Given the description of an element on the screen output the (x, y) to click on. 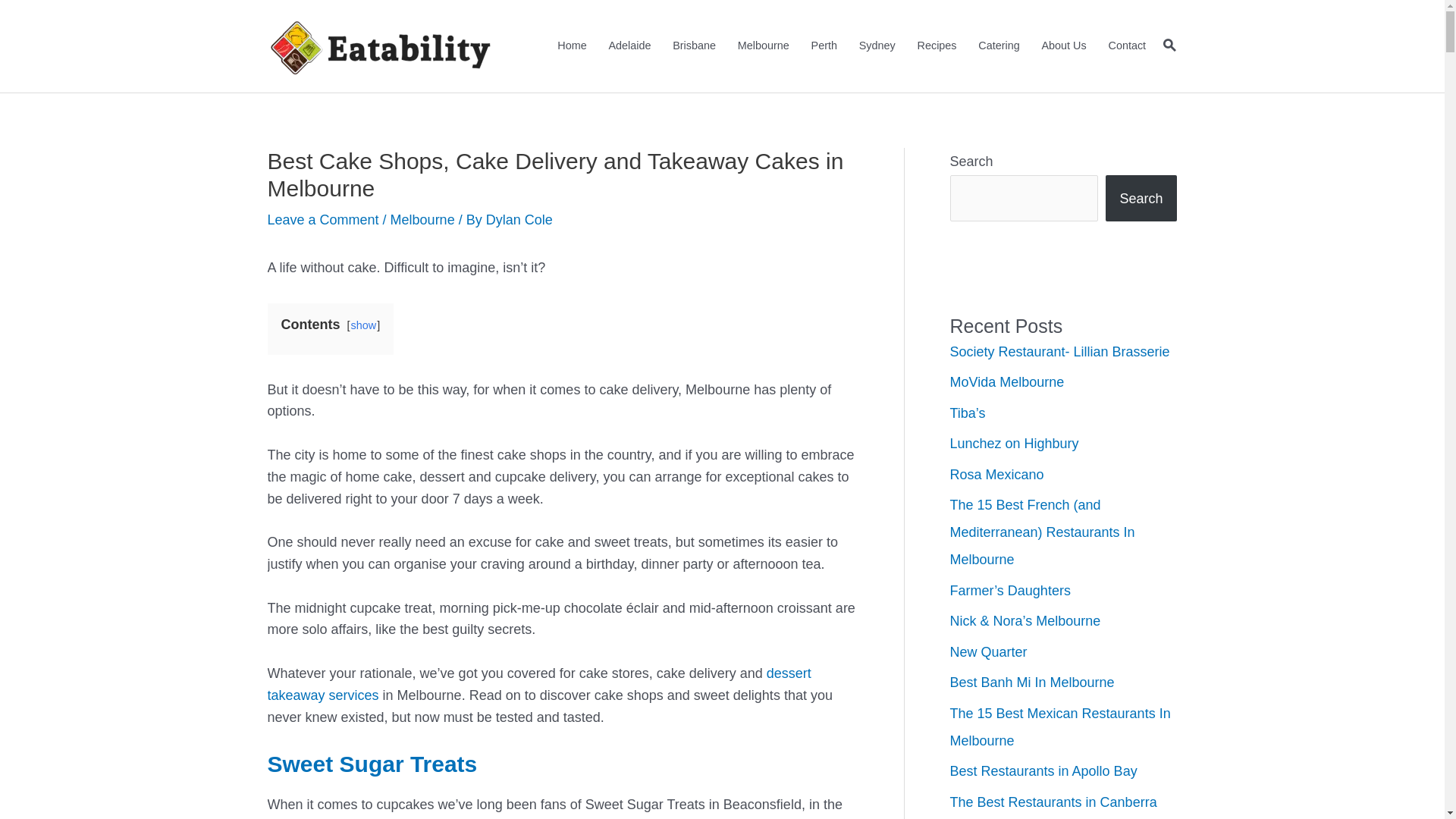
About Us Element type: text (1063, 46)
MoVida Melbourne Element type: text (1006, 381)
Best Restaurants in Apollo Bay Element type: text (1042, 770)
The Best Restaurants in Canberra Element type: text (1052, 801)
Sweet Element type: text (302, 763)
Adelaide Element type: text (629, 46)
Search Element type: text (1140, 198)
Perth Element type: text (823, 46)
The 15 Best Mexican Restaurants In Melbourne Element type: text (1059, 727)
Society Restaurant- Lillian Brasserie Element type: text (1059, 351)
Sugar Element type: text (374, 763)
Contact Element type: text (1126, 46)
Recipes Element type: text (936, 46)
New Quarter Element type: text (987, 651)
Leave a Comment Element type: text (322, 219)
Best Banh Mi In Melbourne Element type: text (1031, 682)
Lunchez on Highbury Element type: text (1013, 443)
Melbourne Element type: text (763, 46)
Treats Element type: text (443, 763)
Melbourne Element type: text (422, 219)
Home Element type: text (571, 46)
show Element type: text (363, 325)
Brisbane Element type: text (694, 46)
Sydney Element type: text (876, 46)
Rosa Mexicano Element type: text (996, 474)
dessert takeaway services Element type: text (538, 683)
Dylan Cole Element type: text (519, 219)
Catering Element type: text (998, 46)
